Given the description of an element on the screen output the (x, y) to click on. 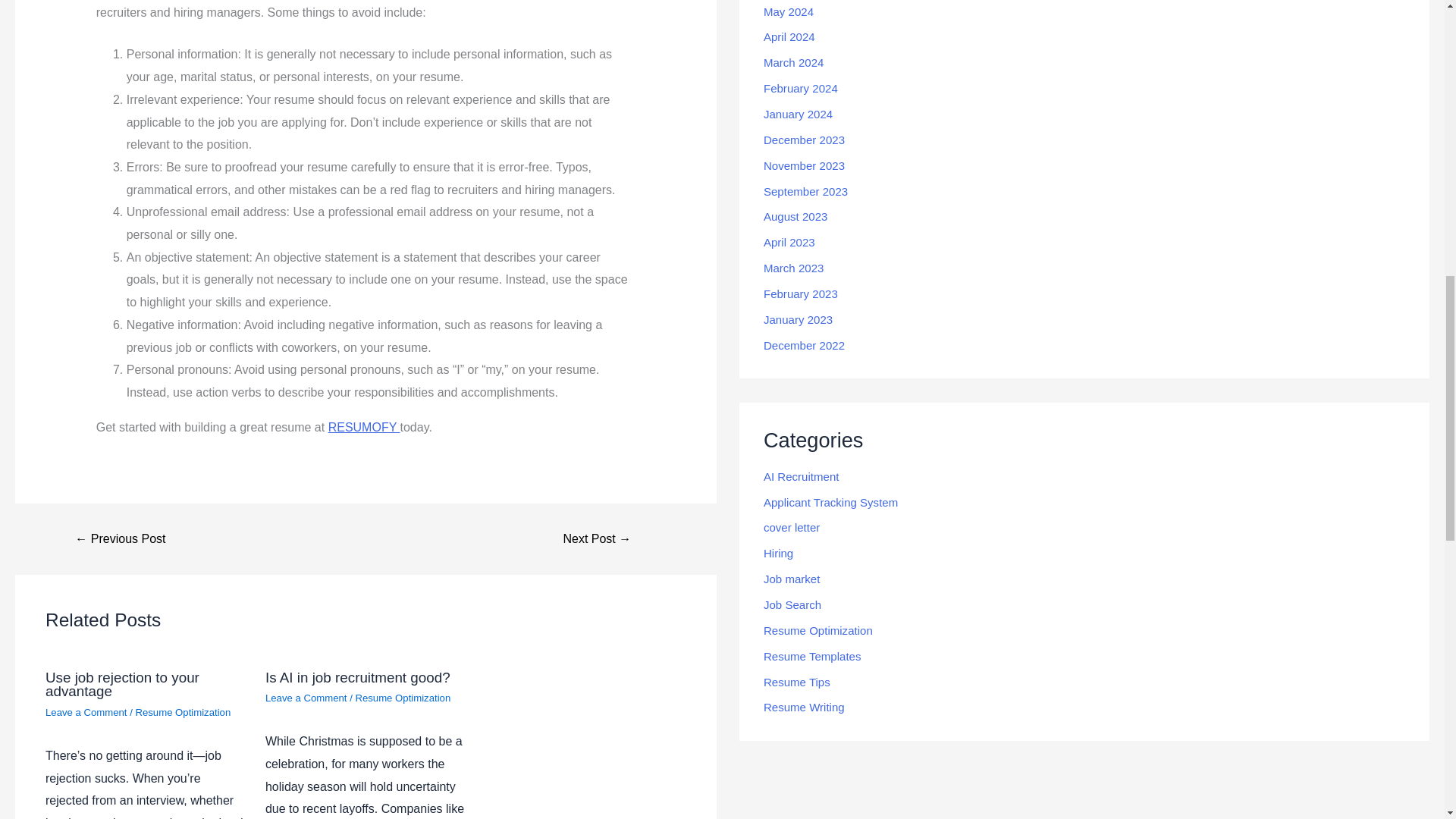
Overused resume keywords to avoid (119, 539)
Why am i not getting interview calls (597, 539)
Leave a Comment (305, 697)
Resume Optimization (182, 712)
RESUMOFY (364, 427)
Use job rejection to your advantage (122, 684)
Is AI in job recruitment good? (356, 677)
Leave a Comment (86, 712)
